Given the description of an element on the screen output the (x, y) to click on. 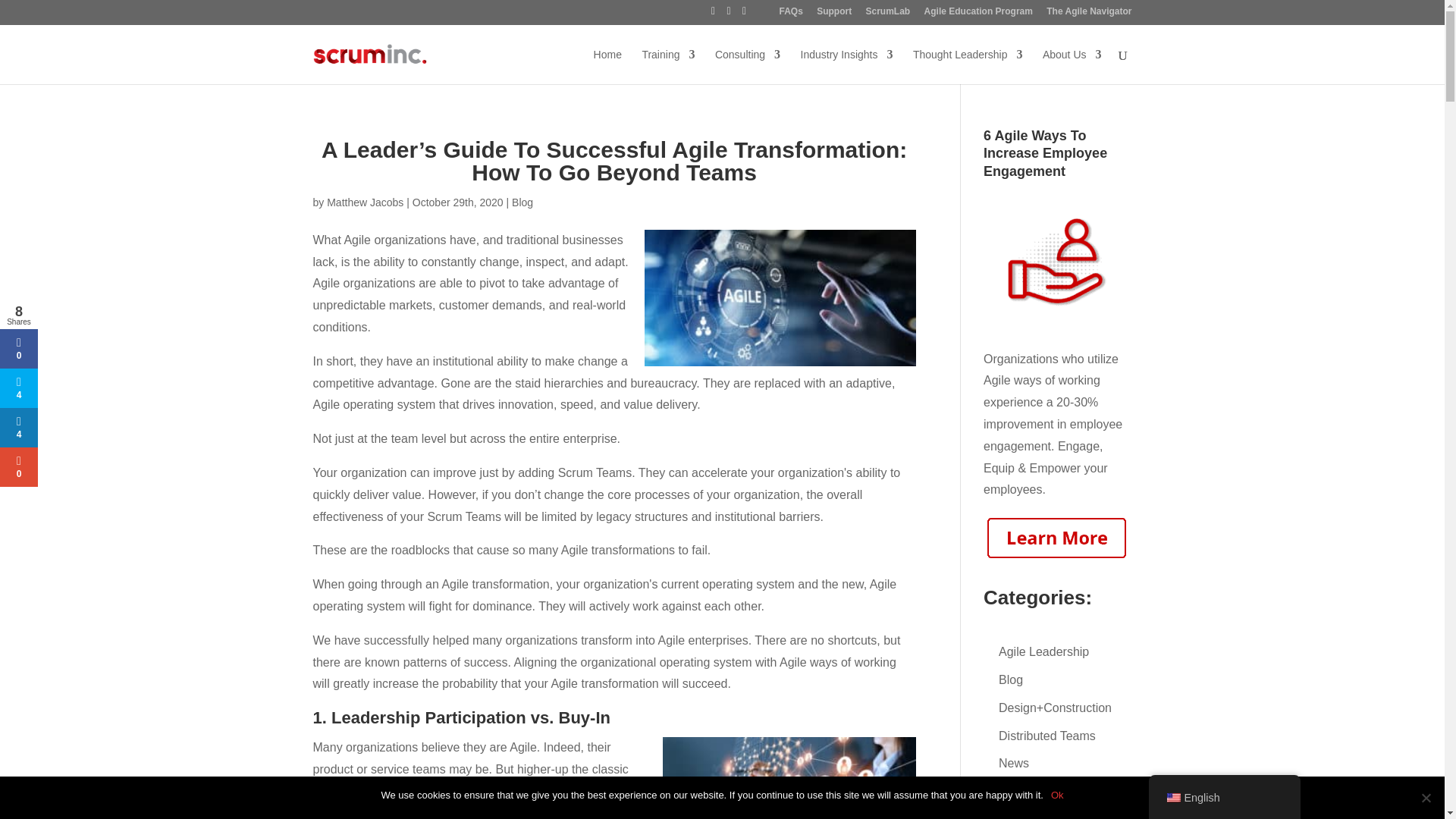
Thought Leadership (967, 65)
English (1172, 797)
Industry Insights (846, 65)
FAQs (790, 14)
Consulting (747, 65)
Support (833, 14)
The Agile Navigator (1088, 14)
ScrumLab (888, 14)
Training (668, 65)
Agile Education Program (978, 14)
